Given the description of an element on the screen output the (x, y) to click on. 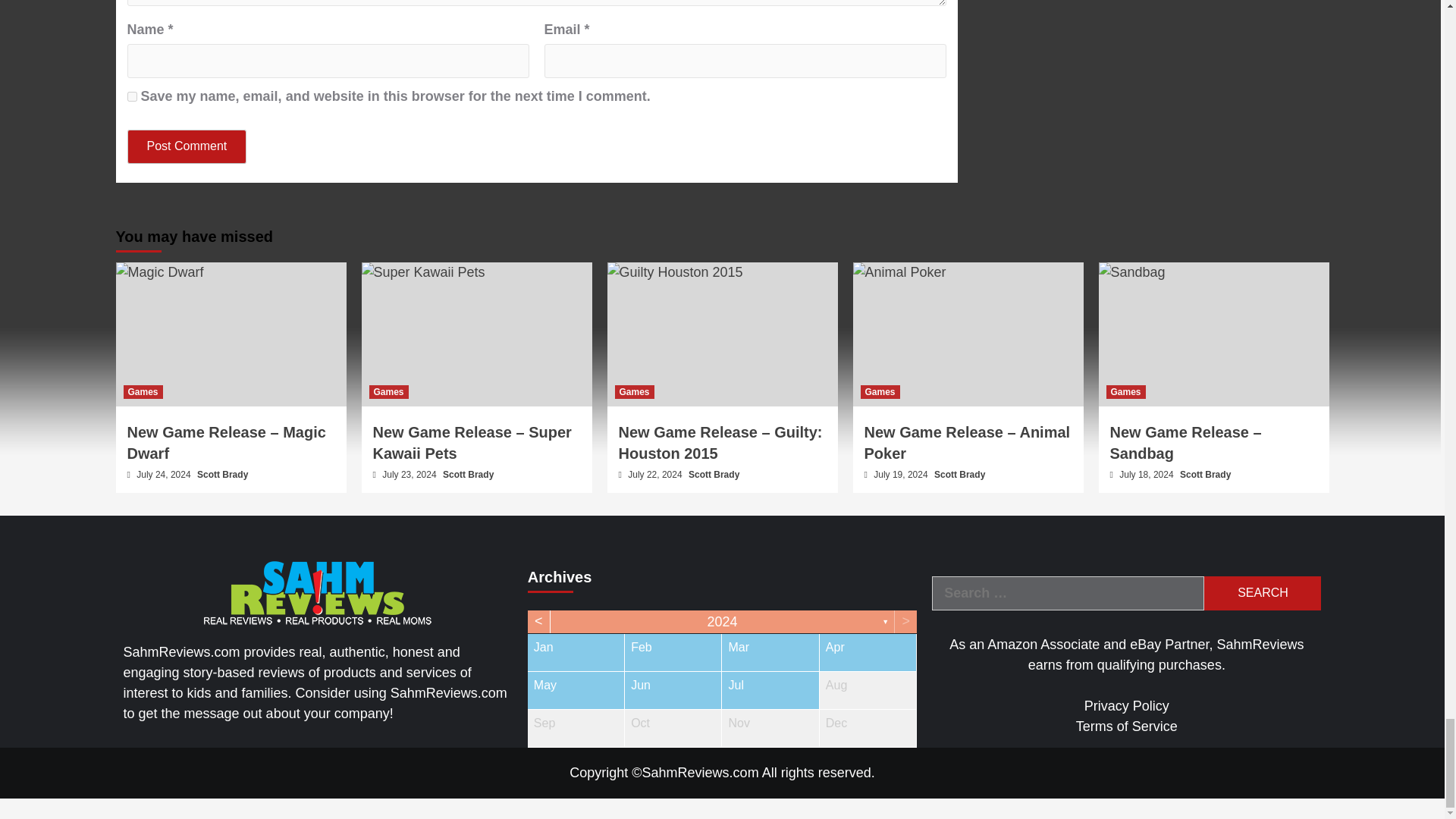
February, 2024 (672, 651)
Post Comment (187, 146)
January, 2024 (575, 651)
March, 2024 (770, 651)
Search (1262, 593)
yes (132, 96)
Search (1262, 593)
